Given the description of an element on the screen output the (x, y) to click on. 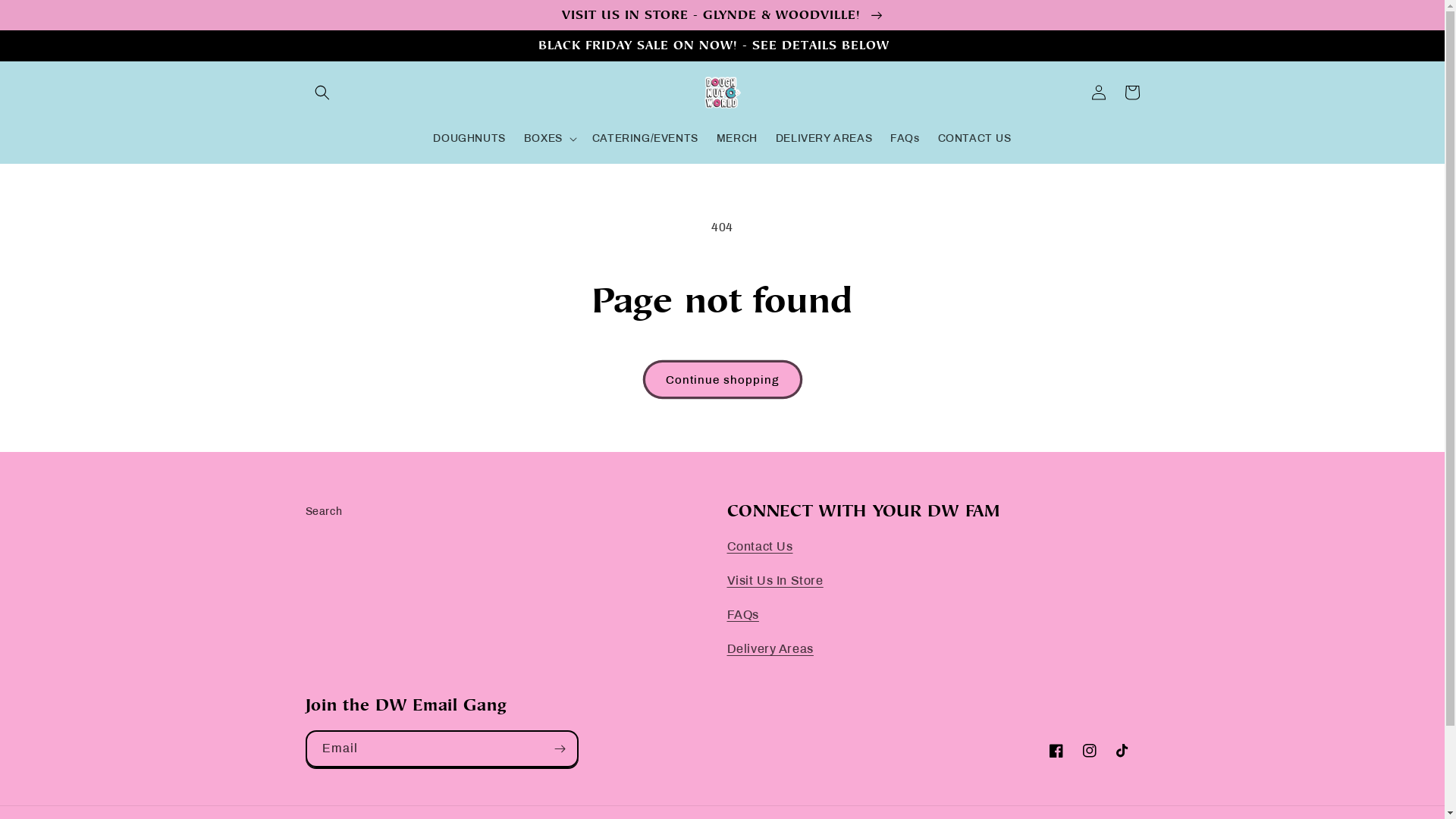
CATERING/EVENTS Element type: text (645, 138)
Contact Us Element type: text (759, 545)
Continue shopping Element type: text (722, 379)
VISIT US IN STORE - GLYNDE & WOODVILLE! Element type: text (722, 14)
Instagram Element type: text (1088, 750)
DOUGHNUTS Element type: text (468, 138)
Search Element type: text (323, 513)
Visit Us In Store Element type: text (774, 580)
Facebook Element type: text (1055, 750)
CONTACT US Element type: text (974, 138)
Log in Element type: text (1097, 92)
DELIVERY AREAS Element type: text (823, 138)
TikTok Element type: text (1122, 750)
Delivery Areas Element type: text (769, 648)
FAQs Element type: text (742, 614)
FAQs Element type: text (904, 138)
Cart Element type: text (1131, 92)
MERCH Element type: text (736, 138)
